Given the description of an element on the screen output the (x, y) to click on. 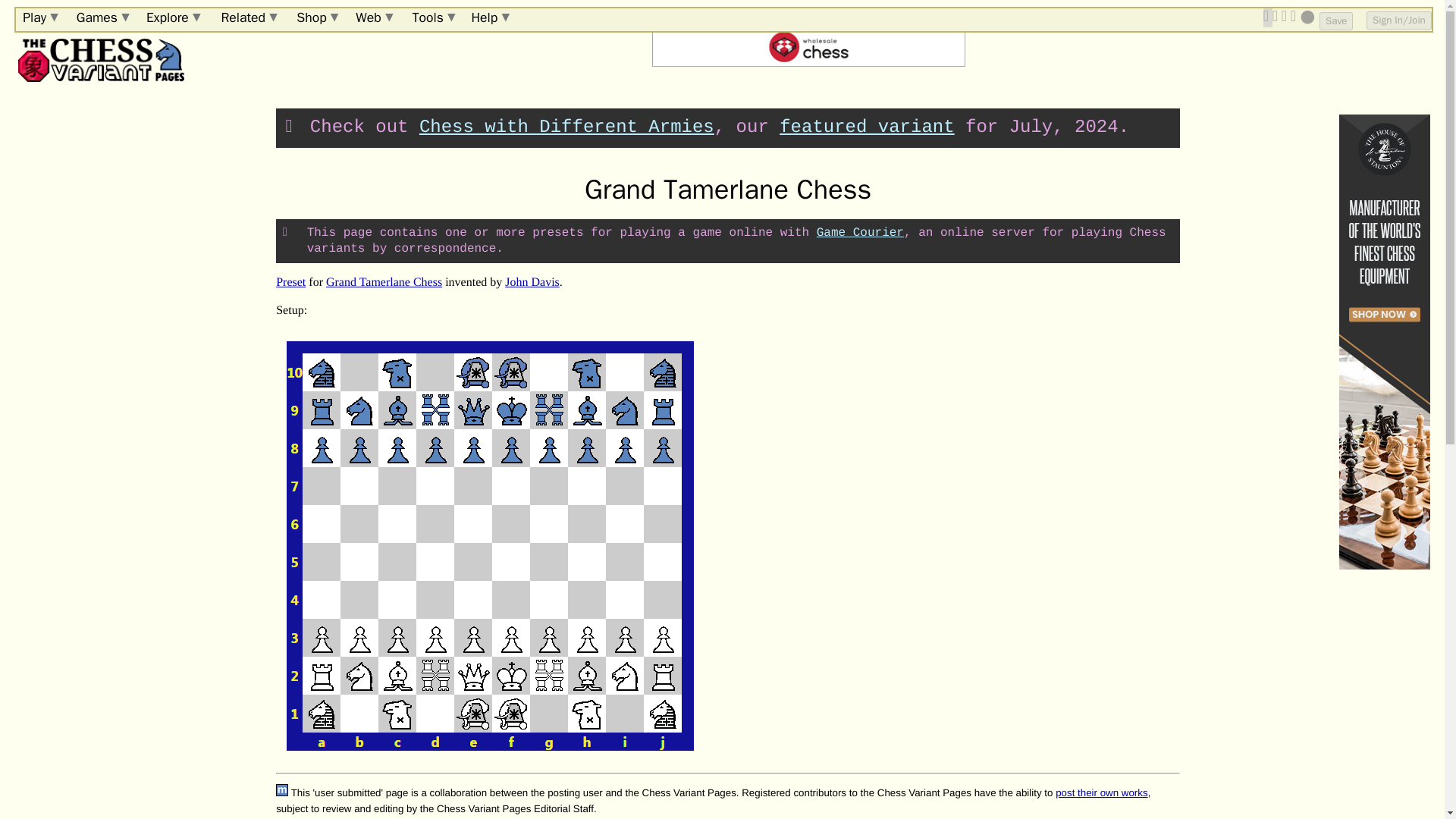
Save (1335, 21)
John Davis (532, 282)
Game Courier (860, 232)
Click to go to the Homepage (98, 59)
Grand Tamerlane Chess (384, 282)
featured variant (865, 127)
Wholesale Chess (808, 46)
Save (1335, 21)
post their own works (1101, 792)
Save the current color scheme to a cookie. (1335, 21)
Preset (290, 282)
Chess with Different Armies (566, 127)
